Given the description of an element on the screen output the (x, y) to click on. 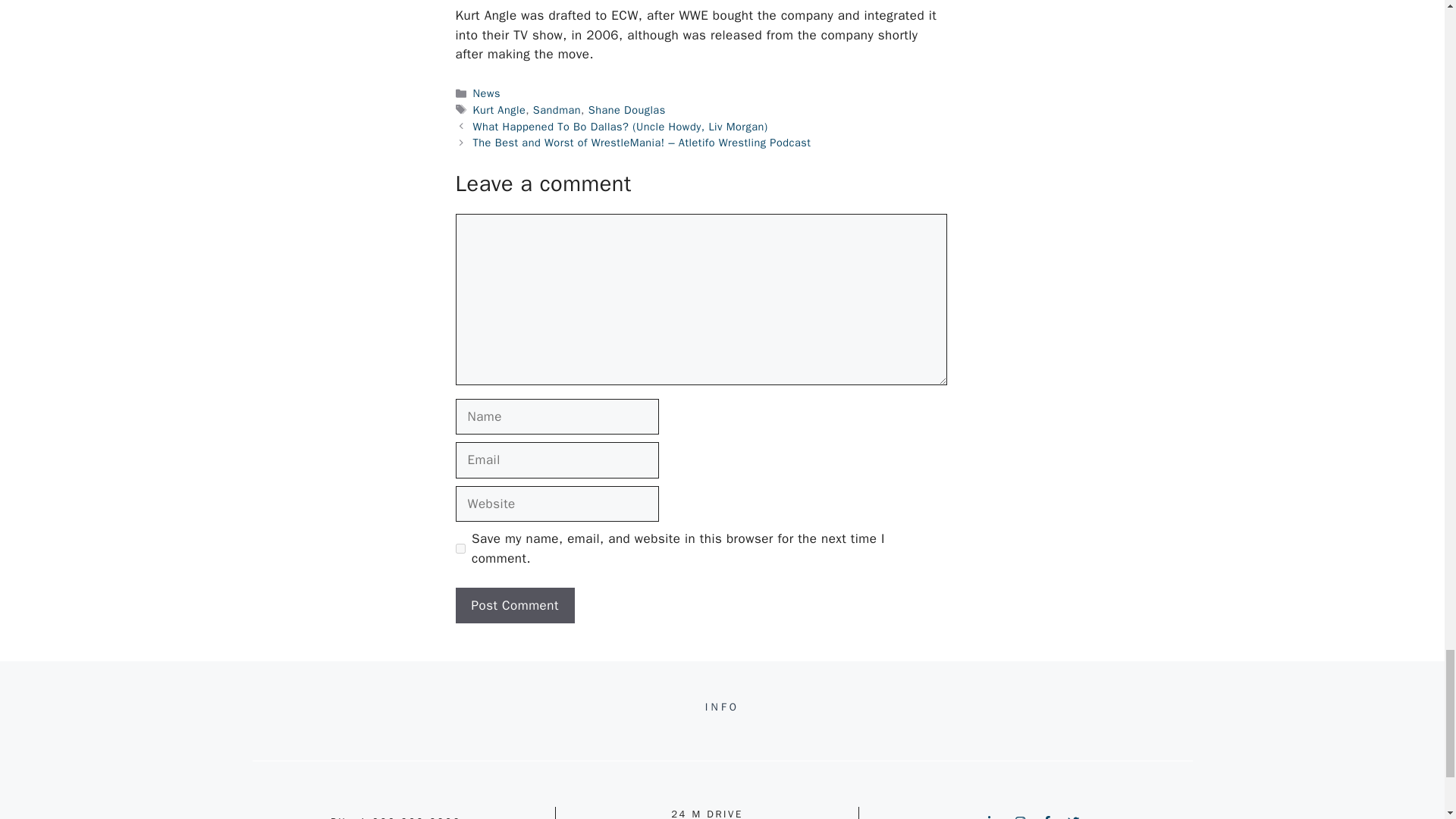
Sandman (556, 110)
Shane Douglas (626, 110)
yes (459, 548)
Post Comment (513, 606)
Post Comment (513, 606)
News (486, 92)
Kurt Angle (499, 110)
